Given the description of an element on the screen output the (x, y) to click on. 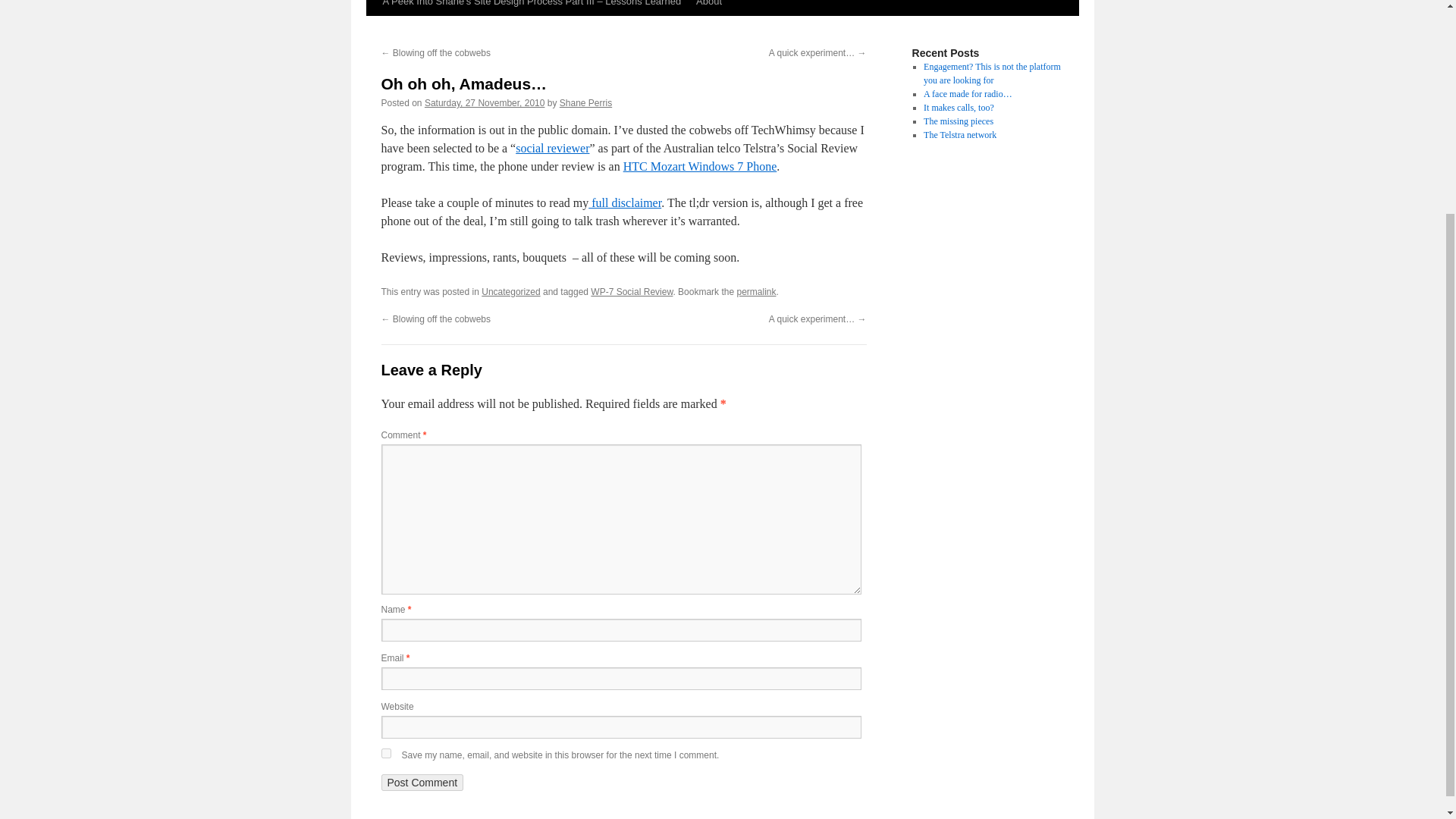
HTC - Mozart (700, 165)
View all posts by Shane Perris (585, 102)
Shane Perris (585, 102)
permalink (756, 291)
Post Comment (421, 782)
HTC Mozart Windows 7 Phone (700, 165)
About (708, 7)
Uncategorized (510, 291)
Post Comment (421, 782)
The Telstra network (959, 134)
